Given the description of an element on the screen output the (x, y) to click on. 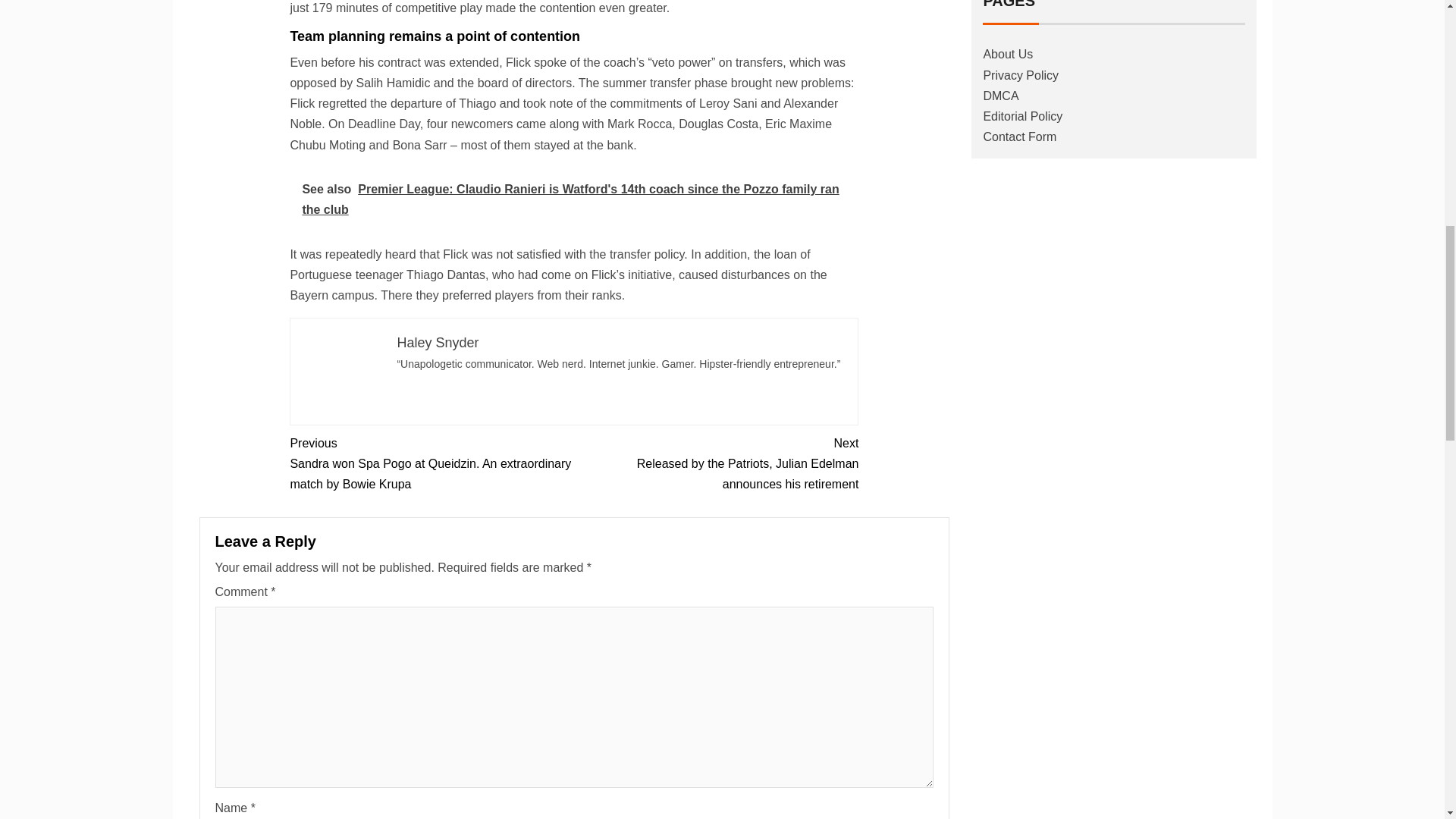
Haley Snyder (437, 342)
